Given the description of an element on the screen output the (x, y) to click on. 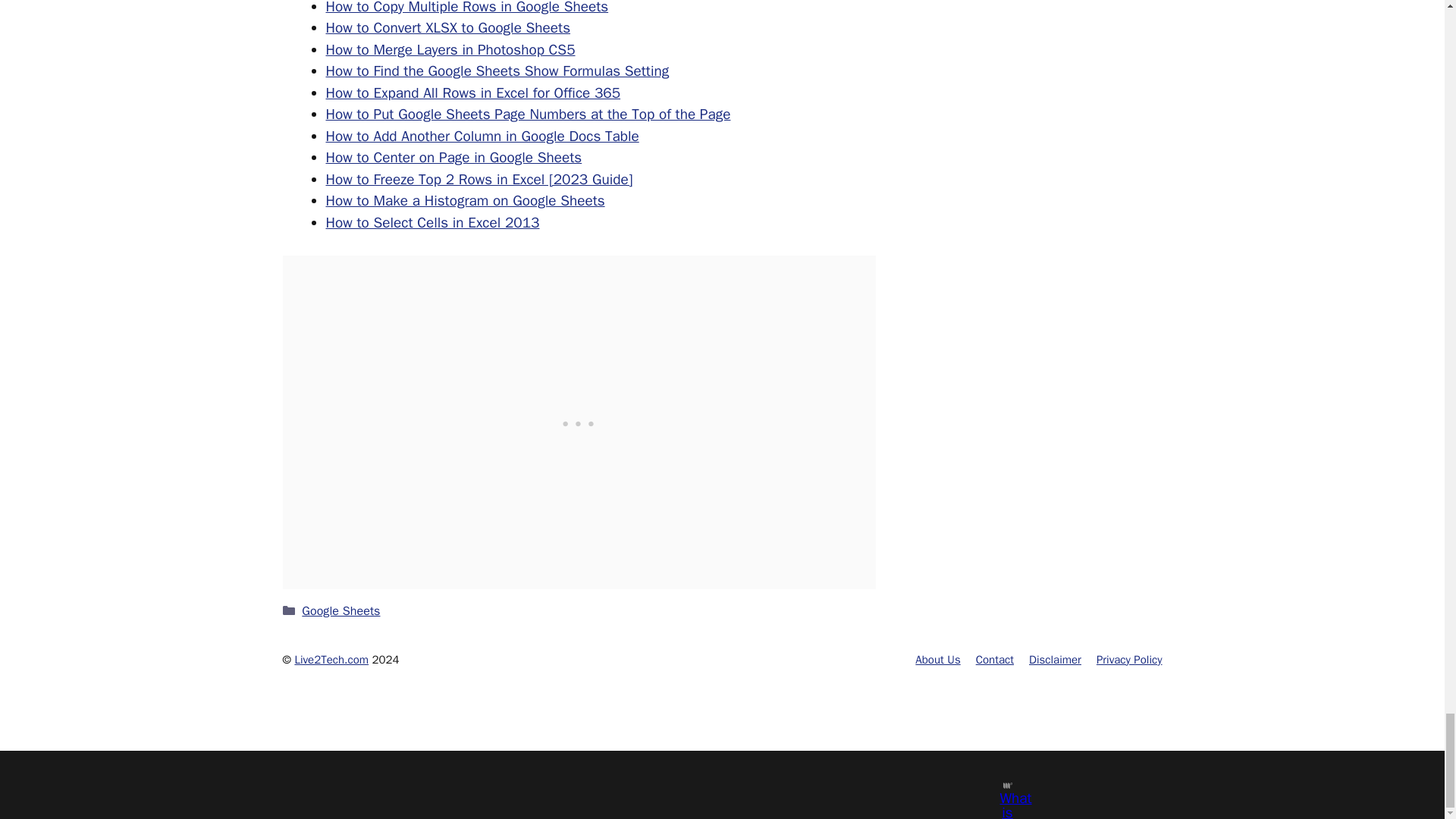
How to Center on Page in Google Sheets (454, 157)
How to Put Google Sheets Page Numbers at the Top of the Page (528, 114)
How to Add Another Column in Google Docs Table (482, 136)
How to Find the Google Sheets Show Formulas Setting (497, 71)
How to Expand All Rows in Excel for Office 365 (473, 93)
How to Copy Multiple Rows in Google Sheets (467, 7)
How to Convert XLSX to Google Sheets (448, 27)
How to Merge Layers in Photoshop CS5 (450, 49)
